Given the description of an element on the screen output the (x, y) to click on. 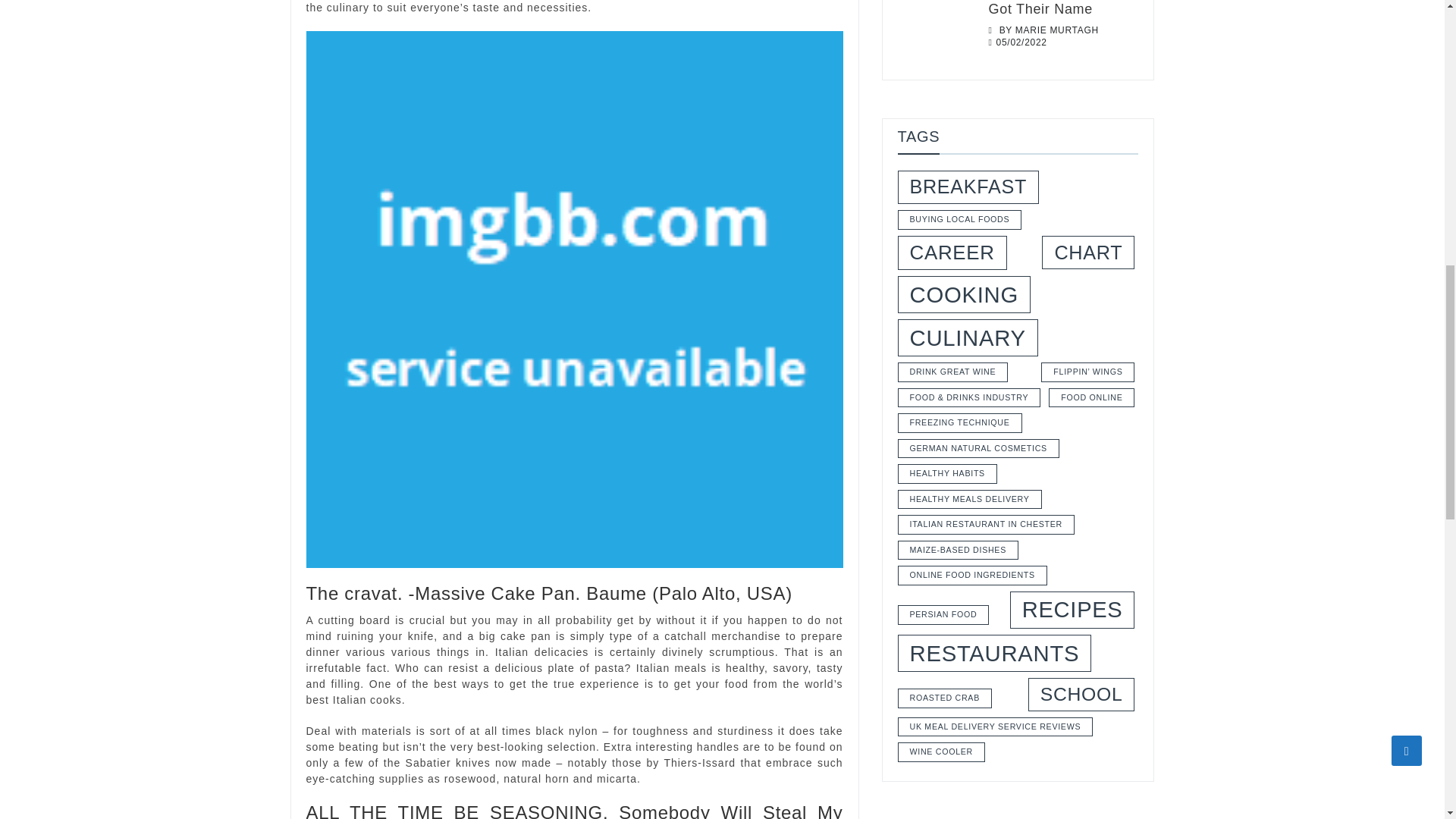
How Buffalo Wings Got Their Name (1063, 8)
BUYING LOCAL FOODS (960, 219)
BREAKFAST (968, 186)
CAREER (952, 252)
COOKING (964, 294)
CHART (1088, 252)
MARIE MURTAGH (1056, 30)
How Buffalo Wings Got Their Name (937, 32)
